Given the description of an element on the screen output the (x, y) to click on. 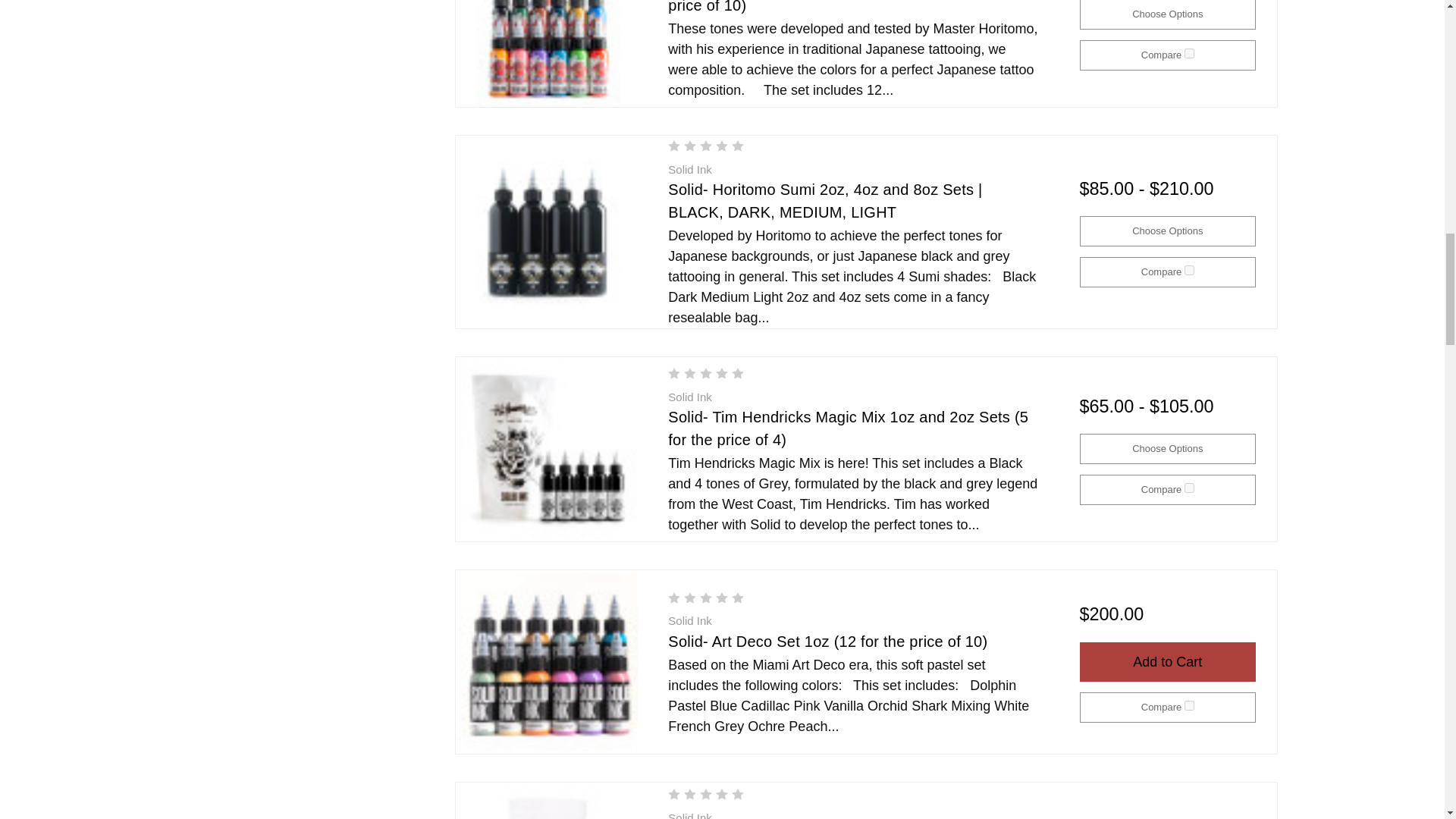
3291 (1189, 488)
3293 (1189, 53)
3292 (1189, 270)
3290 (1189, 705)
